Given the description of an element on the screen output the (x, y) to click on. 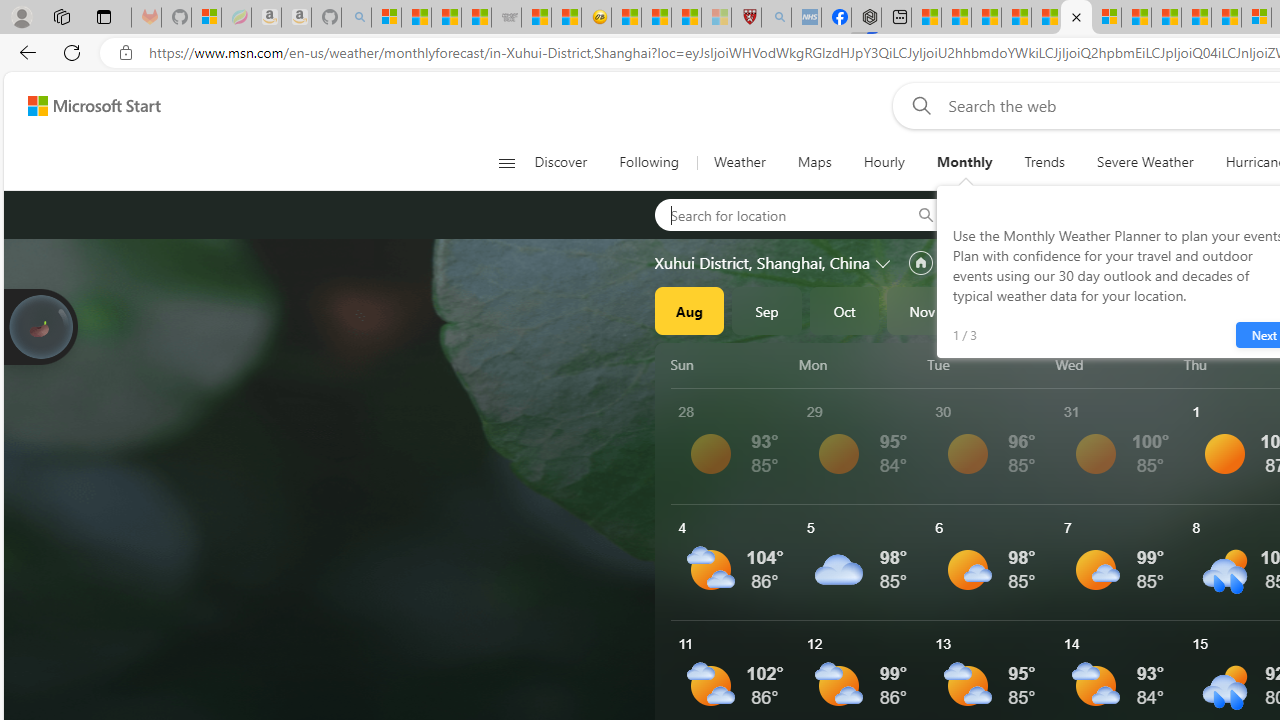
Robert H. Shmerling, MD - Harvard Health (746, 17)
Feb (1155, 310)
Skip to footer (82, 105)
Xuhui District, Shanghai, China (762, 263)
Change location (884, 262)
